Given the description of an element on the screen output the (x, y) to click on. 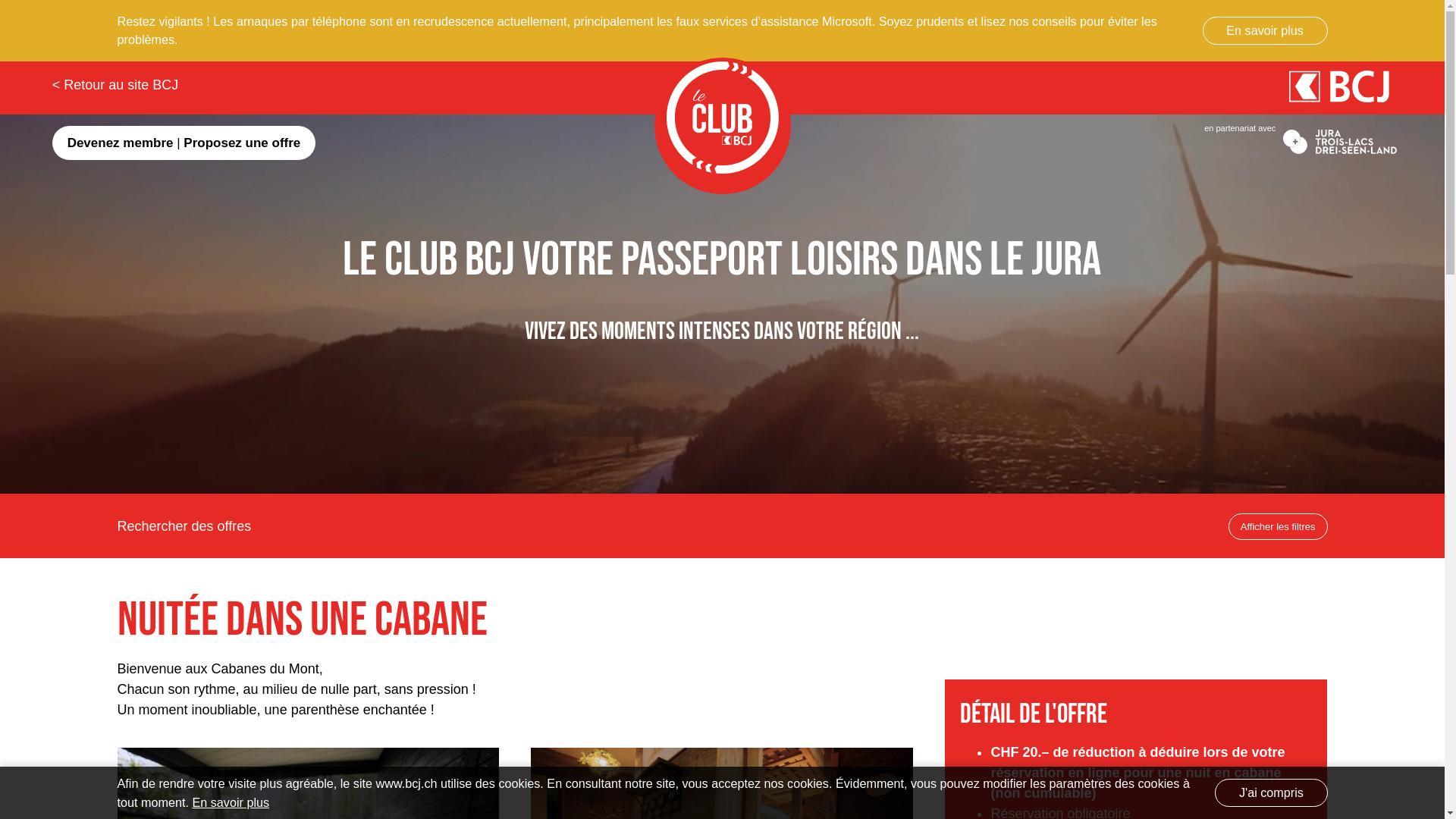
Devenez membre Element type: text (120, 142)
Afficher les filtres Element type: text (1277, 526)
Proposez une offre Element type: text (241, 142)
En savoir plus Element type: text (1264, 29)
En savoir plus Element type: text (230, 802)
J'ai compris Element type: text (1270, 792)
< Retour au site BCJ Element type: text (115, 77)
